Given the description of an element on the screen output the (x, y) to click on. 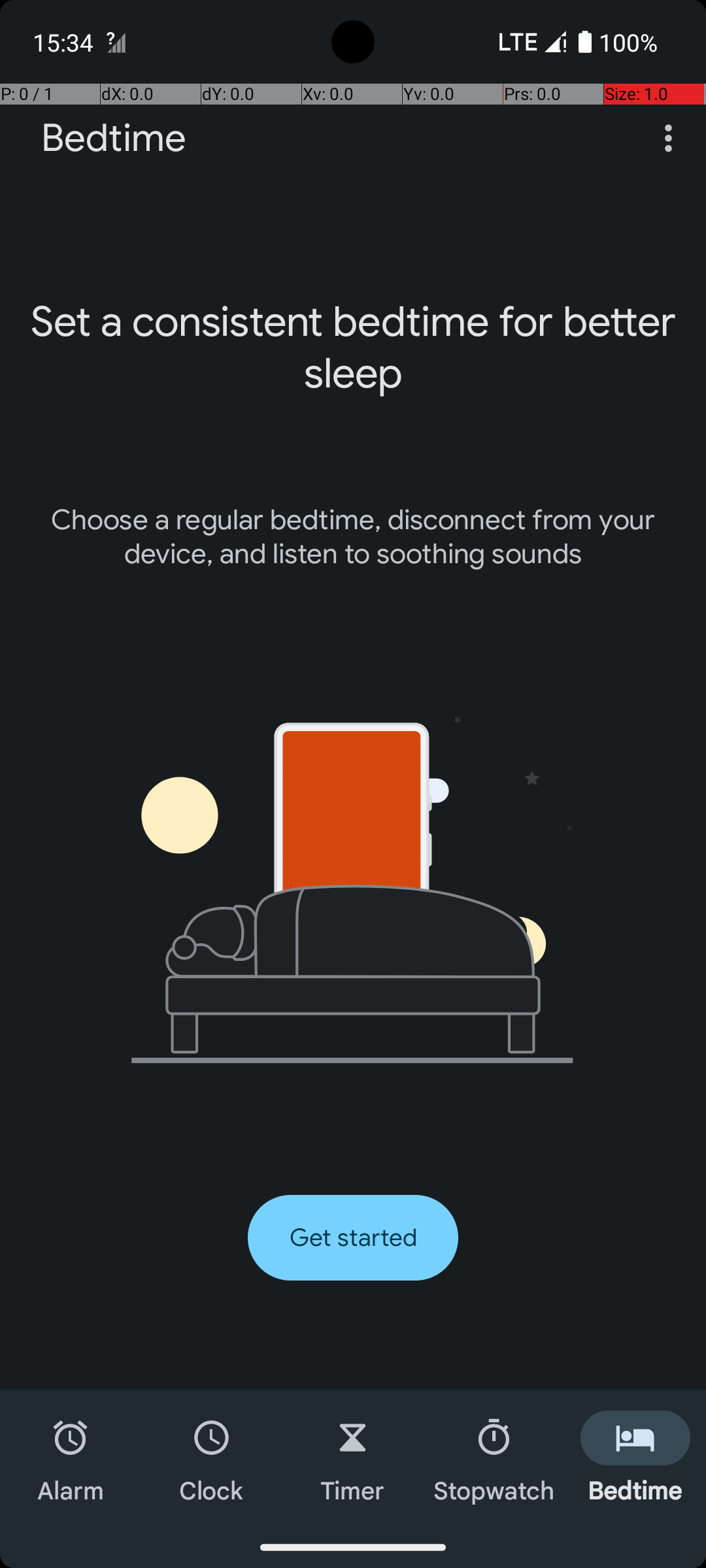
Choose a regular bedtime, disconnect from your device, and listen to soothing sounds Element type: android.widget.TextView (352, 536)
